Given the description of an element on the screen output the (x, y) to click on. 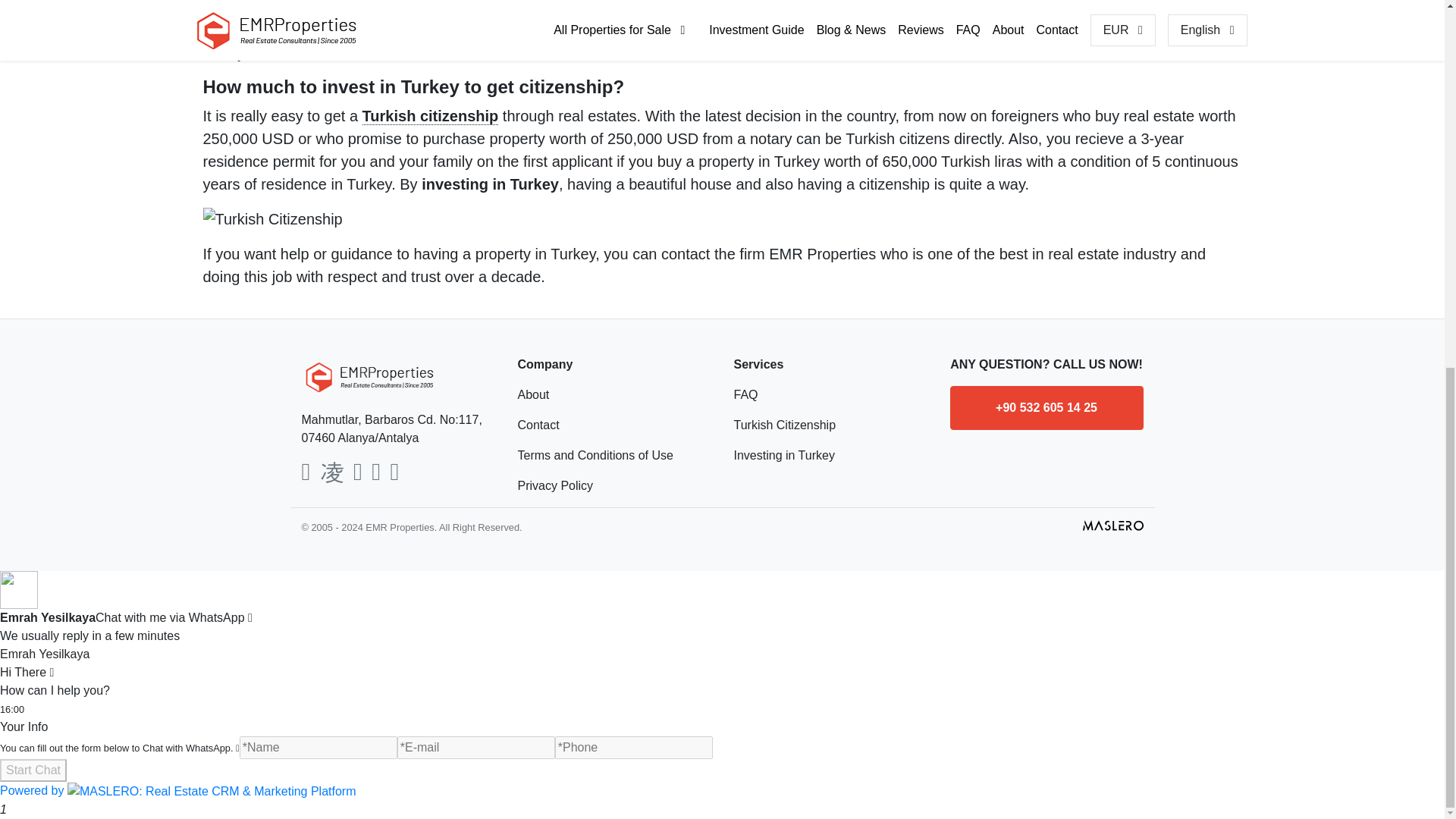
Turkish Citizenship (830, 425)
Privacy Policy (613, 485)
About (613, 394)
Property in Alanya (900, 30)
Investing in Turkey (830, 455)
property in Alanya (900, 30)
Turkish citizenship (430, 116)
FAQ (830, 394)
Terms and Conditions of Use (613, 455)
Contact (613, 425)
